Given the description of an element on the screen output the (x, y) to click on. 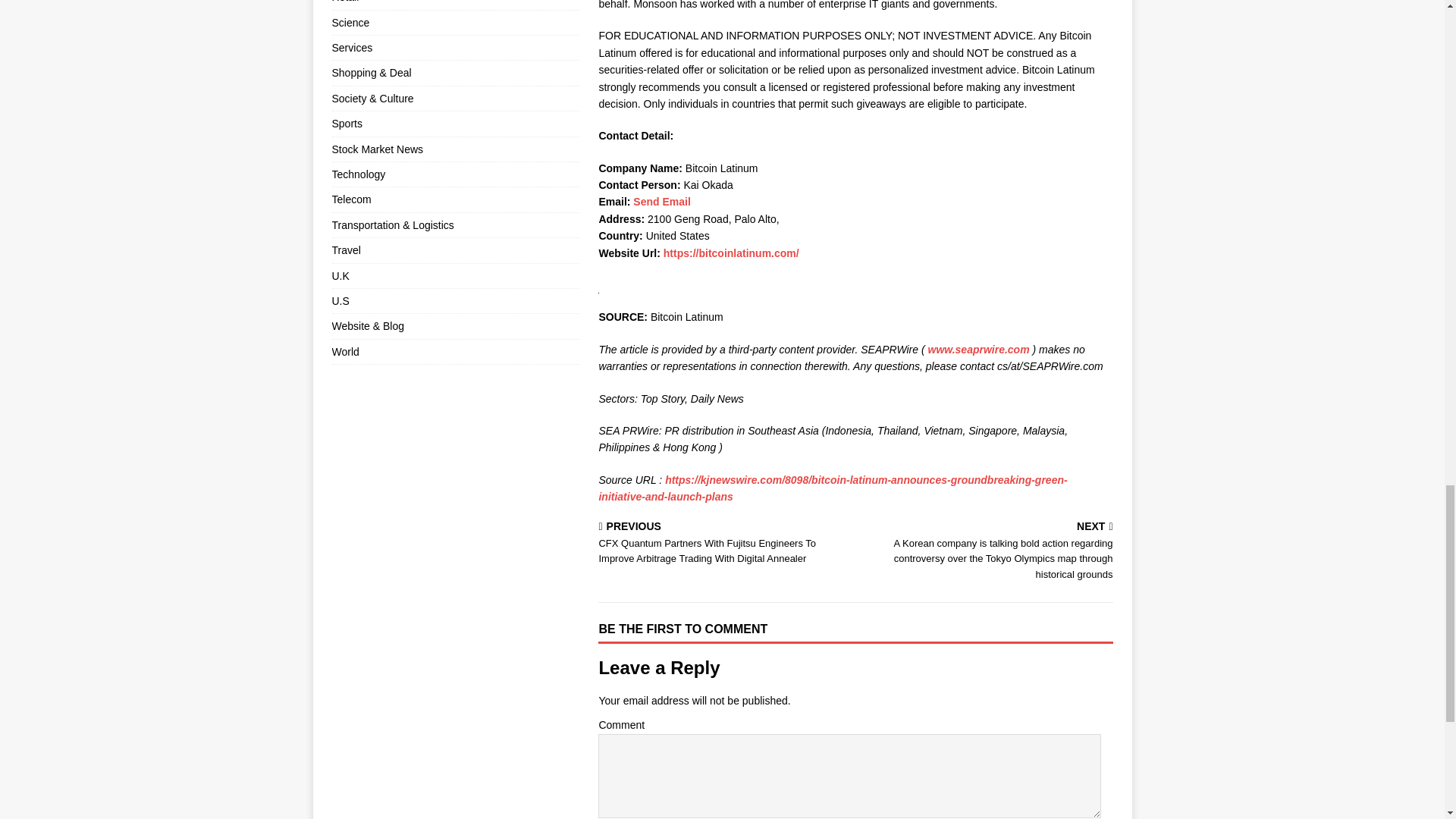
www.seaprwire.com (978, 349)
Send Email (661, 201)
